Given the description of an element on the screen output the (x, y) to click on. 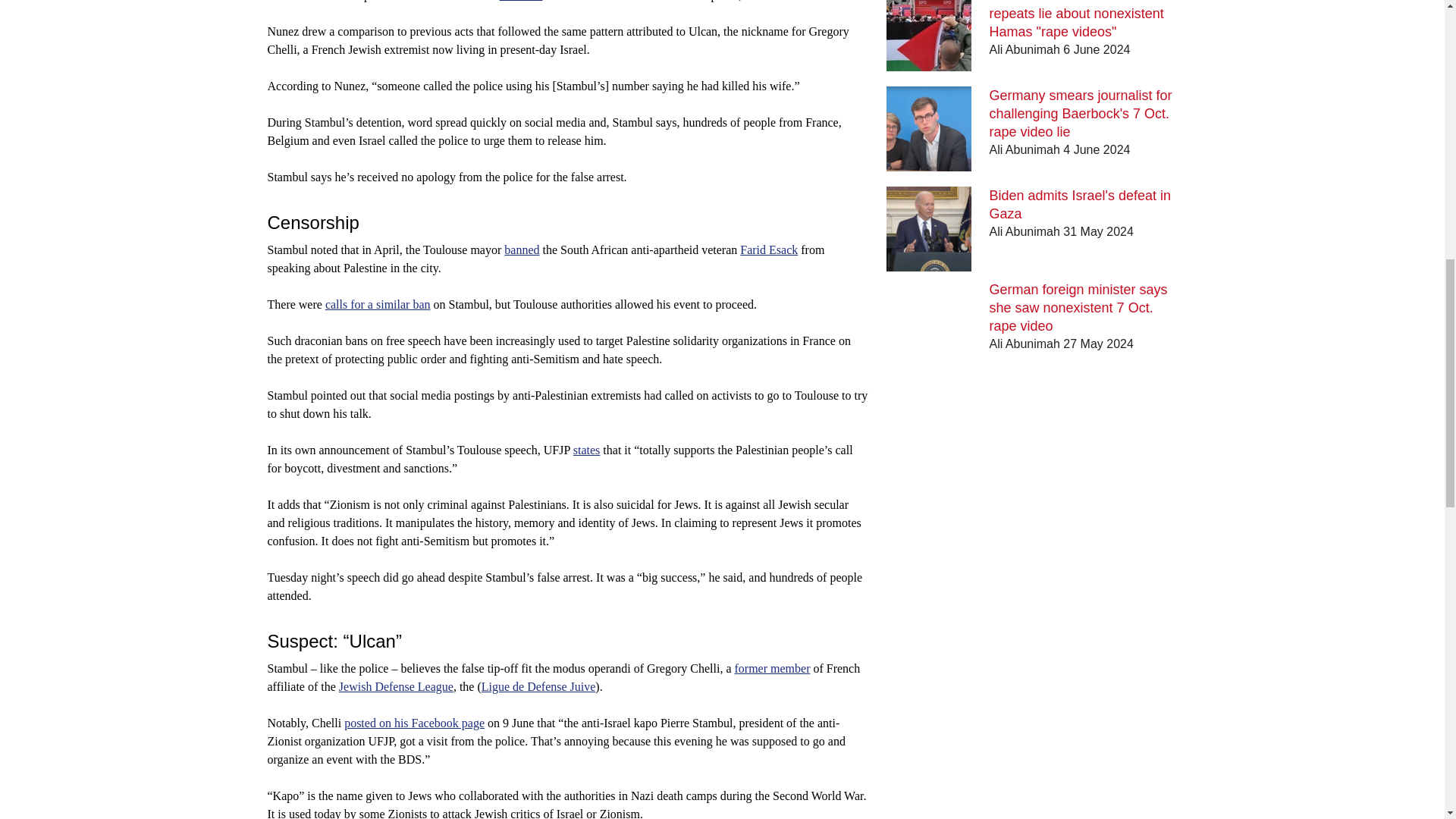
posted on his Facebook page (413, 722)
states (586, 449)
Farid Esack (768, 249)
former member (771, 667)
calls for a similar ban (377, 304)
Ligue de Defense Juive (538, 686)
told AFP (521, 0)
Jewish Defense League (395, 686)
banned (520, 249)
